Given the description of an element on the screen output the (x, y) to click on. 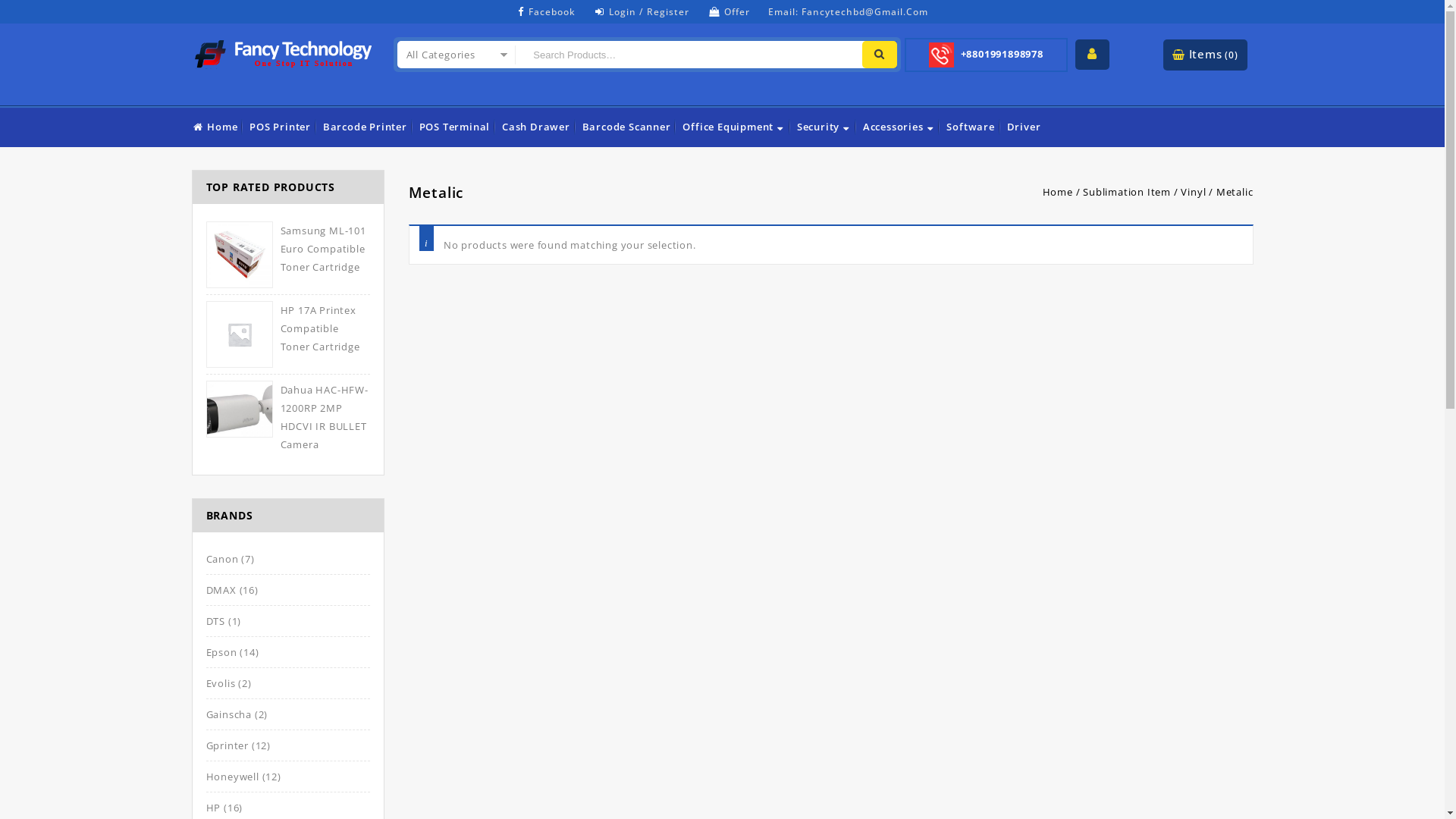
Cash Drawer Element type: text (536, 126)
HP 17A Printex Compatible Toner Cartridge Element type: text (288, 328)
Samsung ML-101 Euro Compatible Toner Cartridge Element type: text (288, 248)
Fancy Technology| Best Computer Shop in Dhaka, Bangladesh Element type: hover (282, 50)
Accessories Element type: text (898, 126)
Sublimation Item Element type: text (1126, 191)
Barcode Printer Element type: text (364, 126)
Dahua HAC-HFW-1200RP 2MP HDCVI IR BULLET Camera Element type: text (288, 416)
Gainscha Element type: text (228, 714)
Search Element type: text (879, 54)
Home Element type: text (1057, 191)
Canon Element type: text (222, 558)
Honeywell Element type: text (232, 776)
POS Terminal Element type: text (454, 126)
Vinyl Element type: text (1192, 191)
Driver Element type: text (1023, 126)
DTS Element type: text (215, 620)
POS Printer Element type: text (279, 126)
Epson Element type: text (221, 651)
Gprinter Element type: text (227, 745)
Search for: Element type: hover (686, 54)
Security Element type: text (823, 126)
(0) Element type: text (1230, 54)
Home Element type: text (214, 126)
Barcode Scanner Element type: text (626, 126)
HP Element type: text (213, 807)
Evolis Element type: text (220, 683)
Software Element type: text (969, 126)
Office Equipment Element type: text (733, 126)
DMAX Element type: text (221, 589)
